Given the description of an element on the screen output the (x, y) to click on. 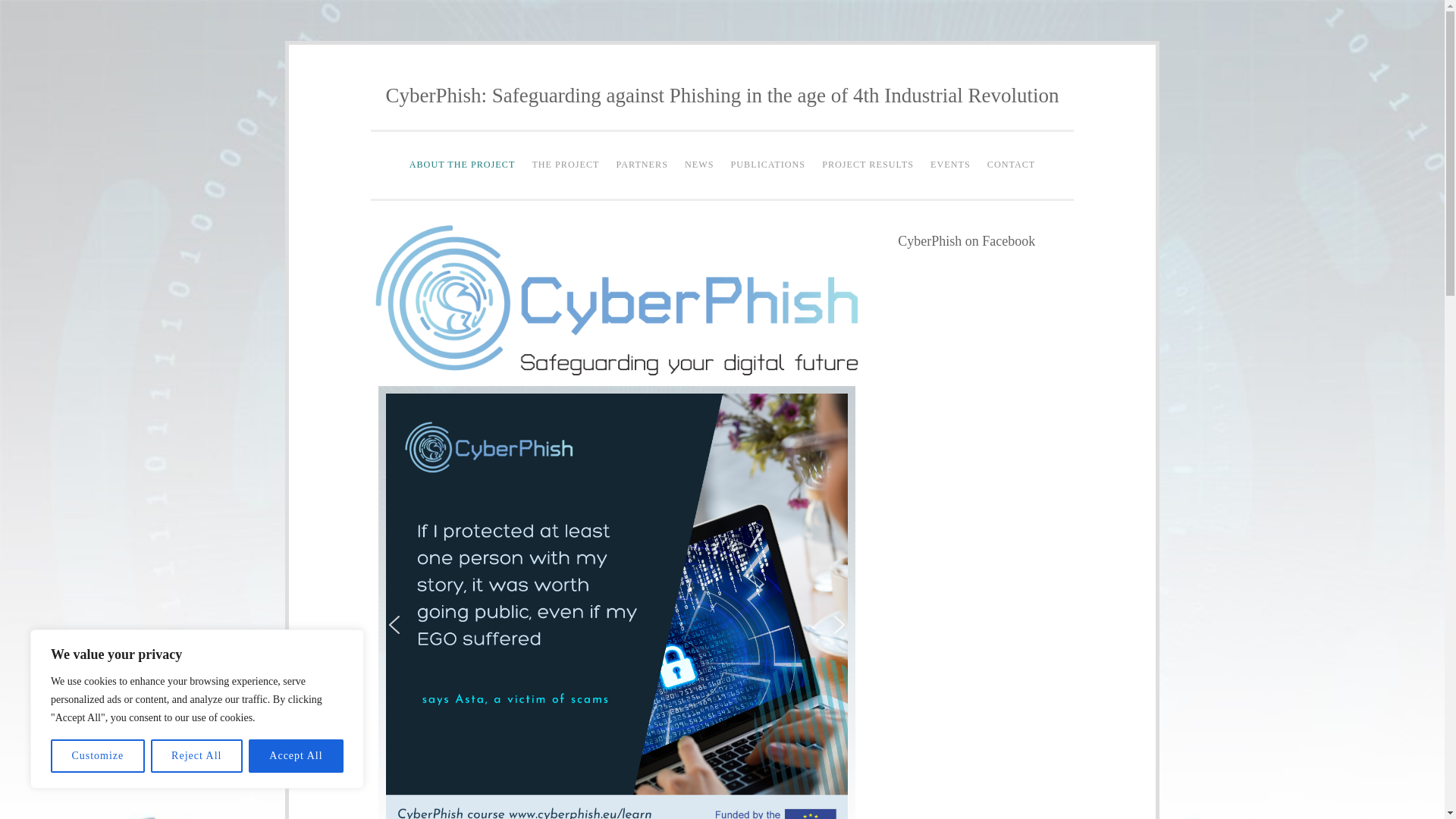
PROJECT RESULTS (867, 164)
PARTNERS (642, 164)
Reject All (197, 756)
EVENTS (949, 164)
THE PROJECT (564, 164)
PUBLICATIONS (767, 164)
NEWS (699, 164)
ABOUT THE PROJECT (462, 164)
Accept All (295, 756)
Customize (97, 756)
CONTACT (1010, 164)
